Given the description of an element on the screen output the (x, y) to click on. 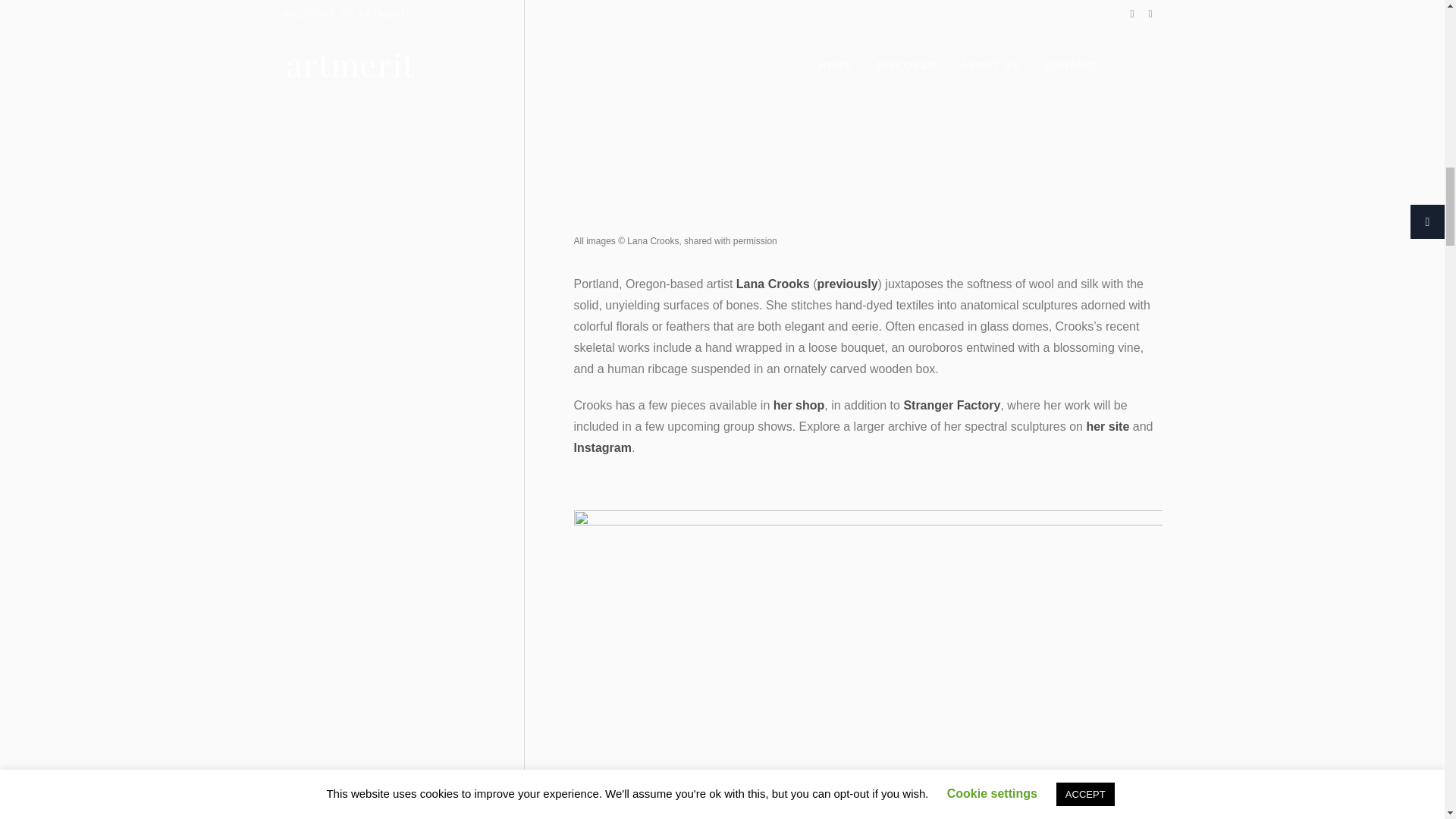
her shop (799, 404)
previously (846, 283)
Lana Crooks (772, 283)
her site (1107, 426)
Instagram (601, 447)
Stranger Factory (951, 404)
